Given the description of an element on the screen output the (x, y) to click on. 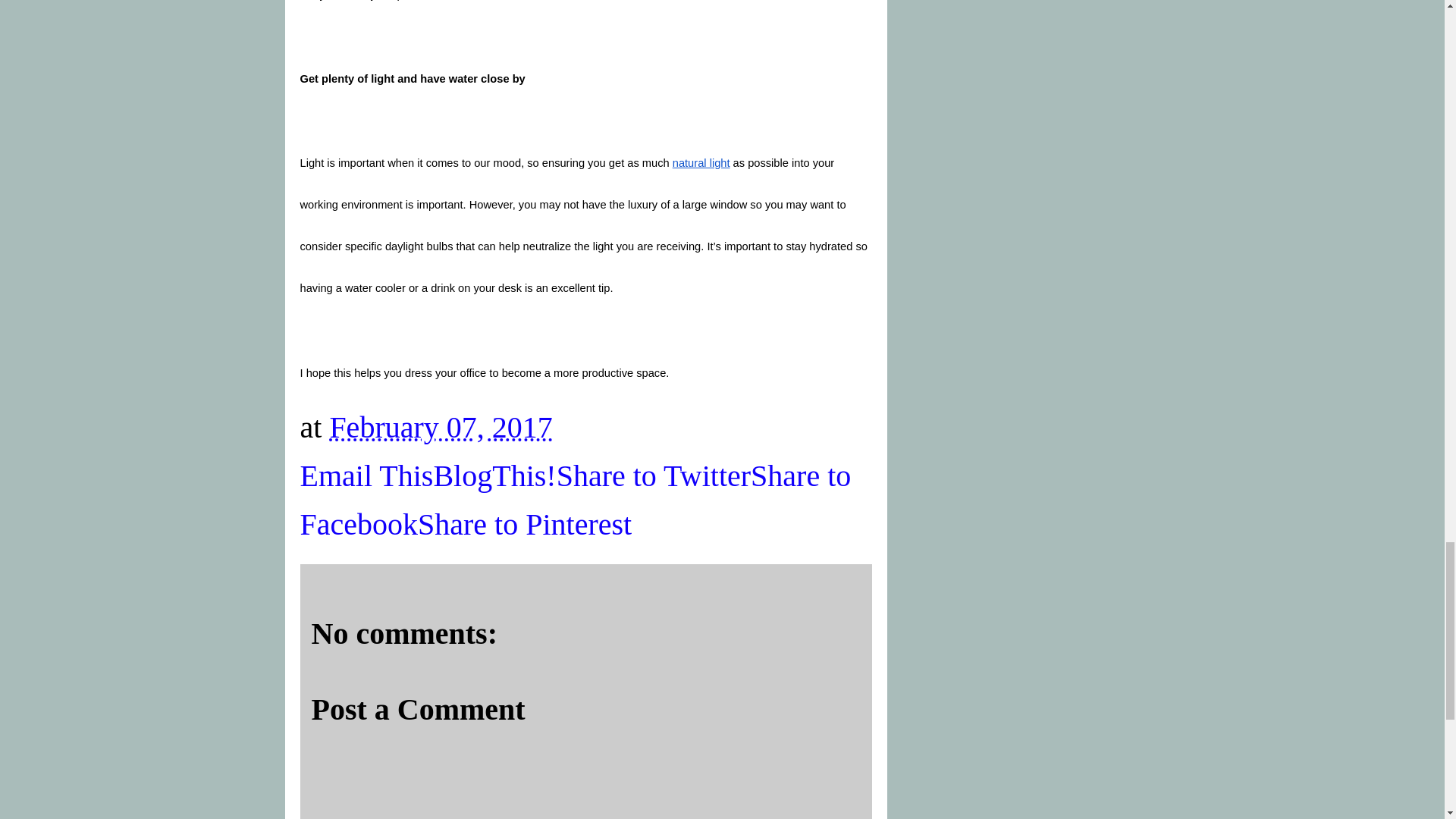
Share to Facebook (575, 499)
Email This (366, 475)
BlogThis! (494, 475)
BlogThis! (494, 475)
Share to Facebook (575, 499)
permanent link (440, 427)
Share to Pinterest (524, 523)
Share to Twitter (653, 475)
Share to Twitter (653, 475)
Email This (366, 475)
